Given the description of an element on the screen output the (x, y) to click on. 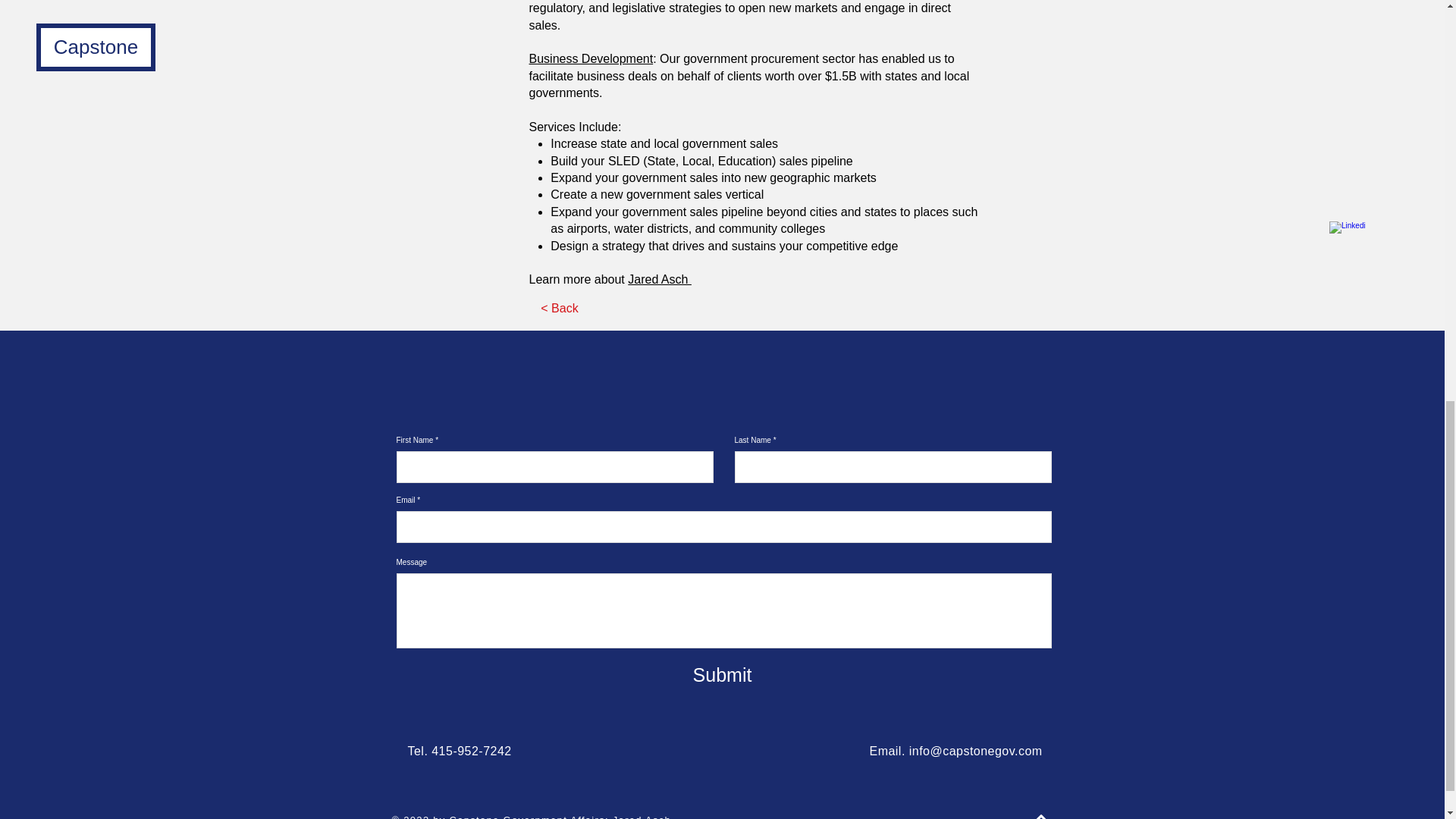
Jared Asch (641, 816)
Jared Asch  (659, 278)
Submit (722, 675)
